Given the description of an element on the screen output the (x, y) to click on. 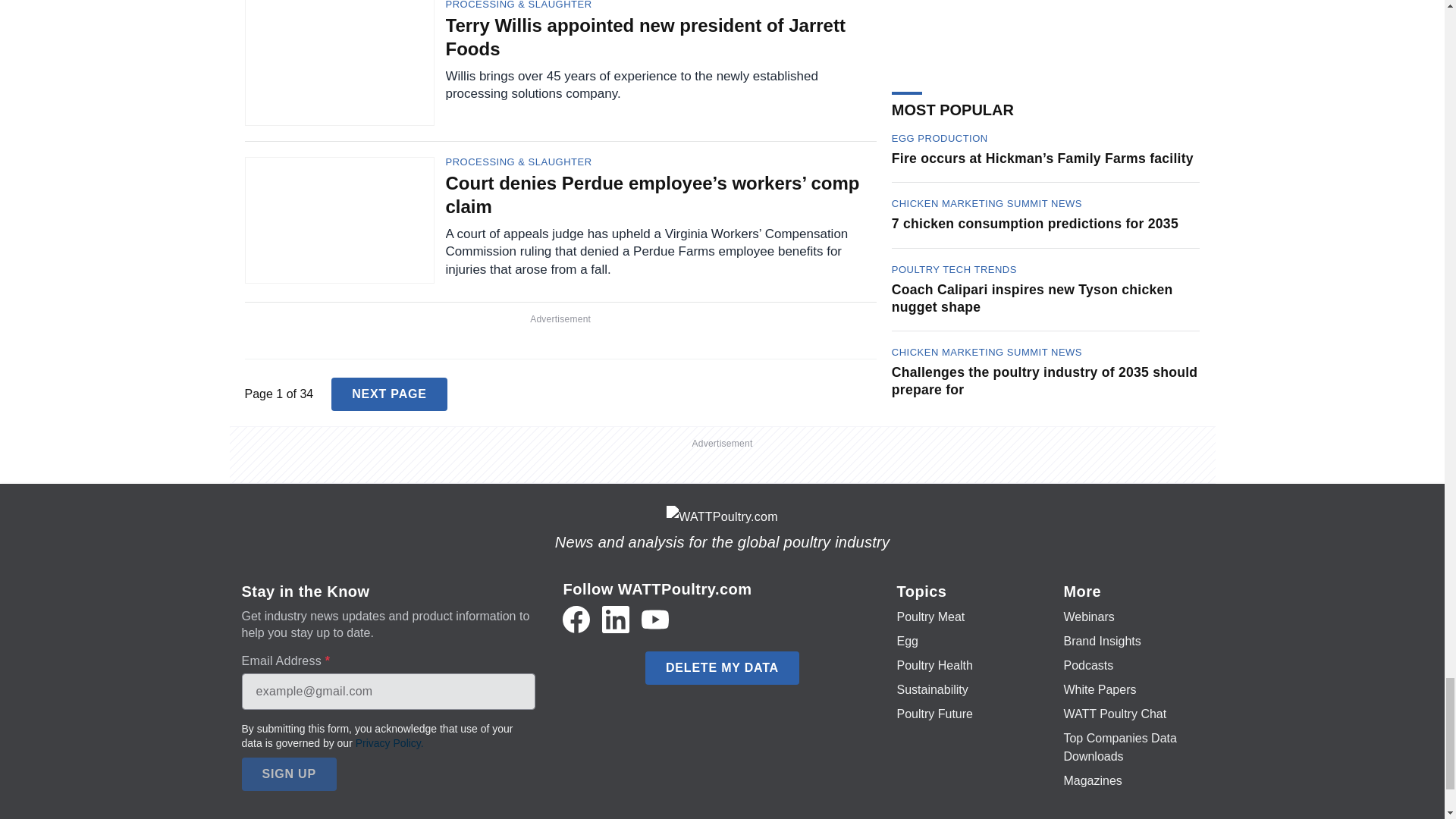
Facebook icon (575, 619)
YouTube icon (655, 619)
LinkedIn icon (615, 619)
